Given the description of an element on the screen output the (x, y) to click on. 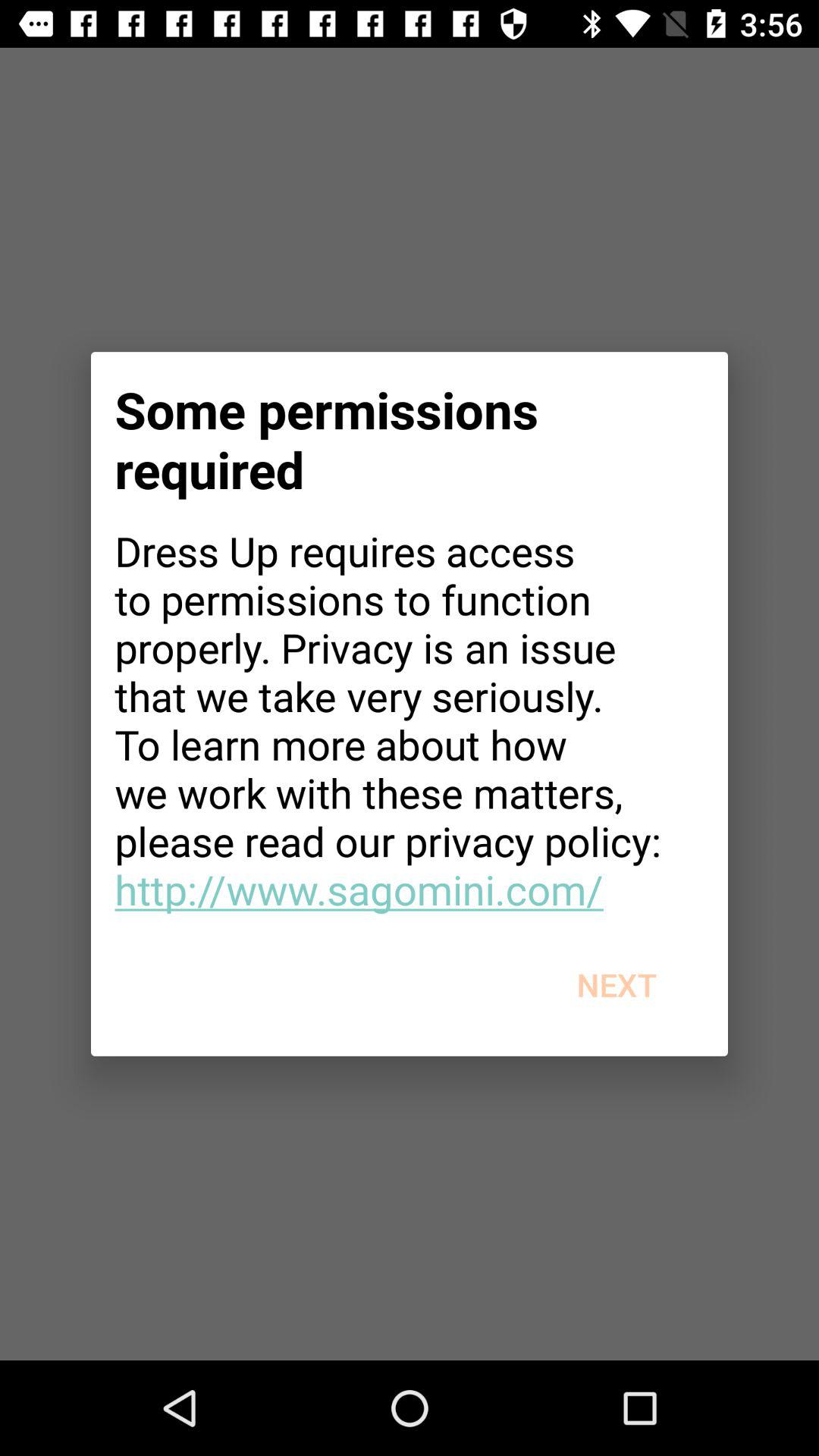
swipe until the dress up requires (409, 719)
